Given the description of an element on the screen output the (x, y) to click on. 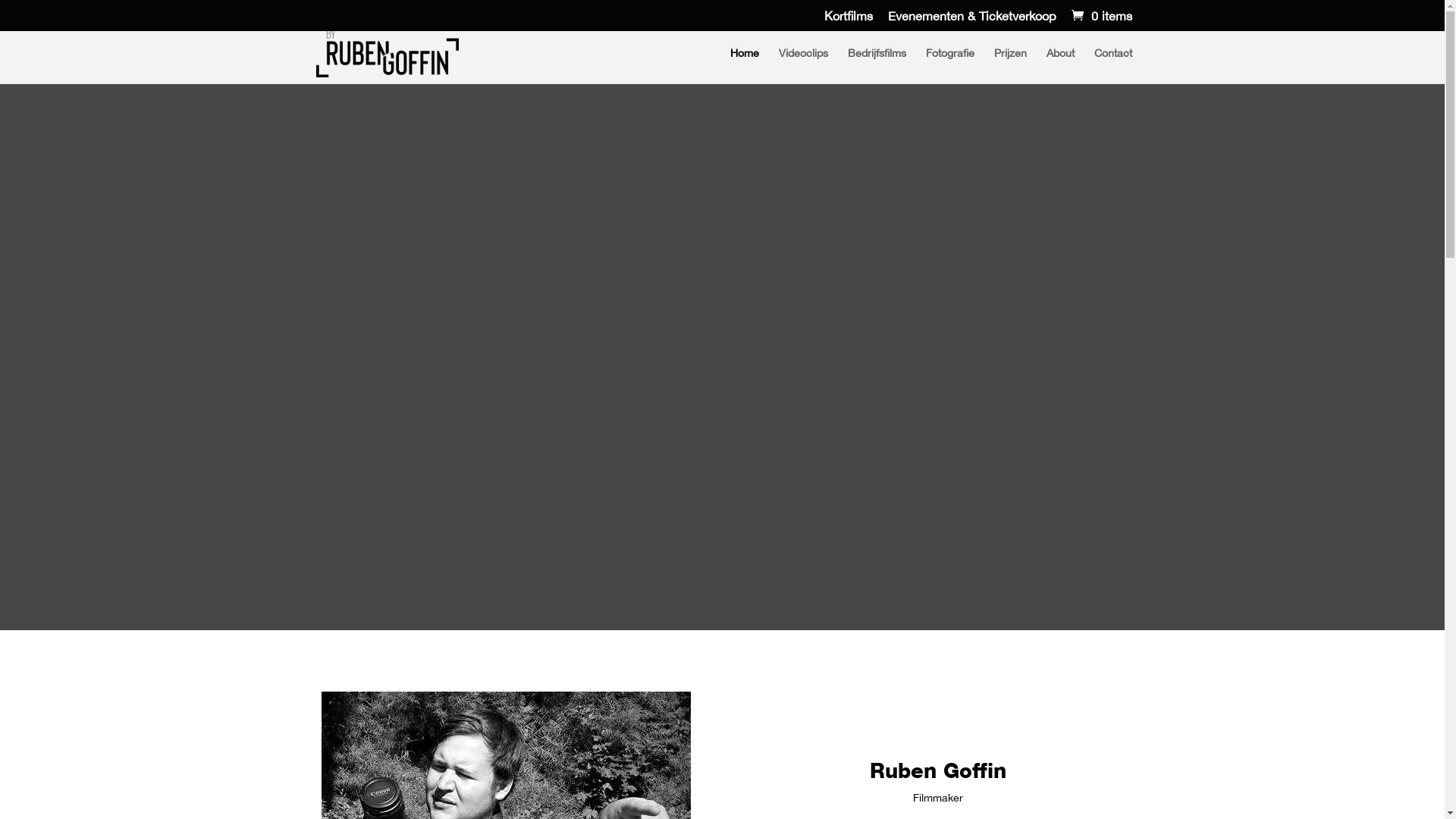
Home Element type: text (743, 65)
Prijzen Element type: text (1009, 65)
Evenementen & Ticketverkoop Element type: text (971, 20)
Videoclips Element type: text (802, 65)
Bedrijfsfilms Element type: text (876, 65)
About Element type: text (1060, 65)
Contact Element type: text (1112, 65)
Fotografie Element type: text (949, 65)
Kortfilms Element type: text (847, 20)
0 items Element type: text (1099, 15)
